Given the description of an element on the screen output the (x, y) to click on. 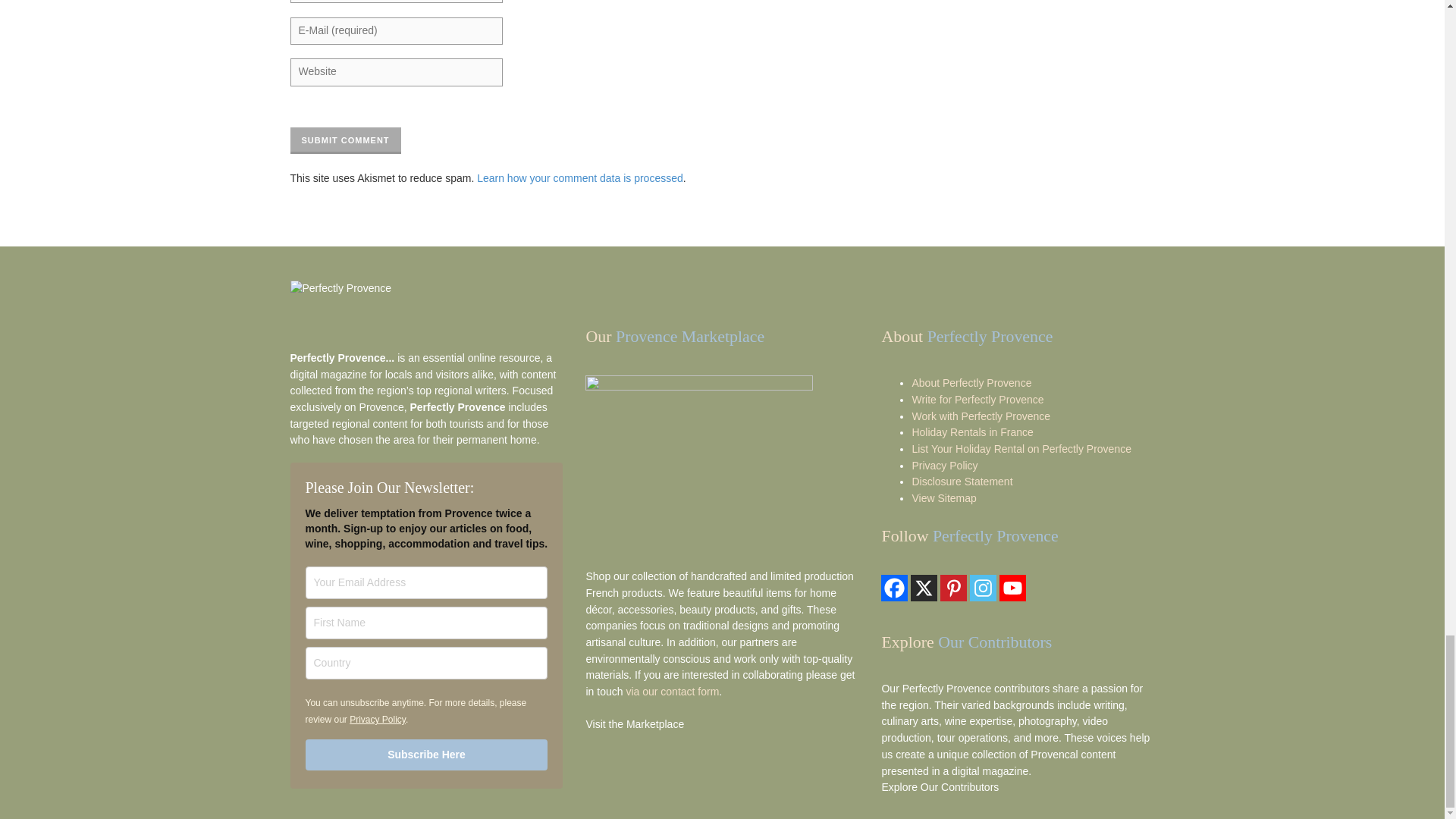
Submit comment (344, 140)
